Given the description of an element on the screen output the (x, y) to click on. 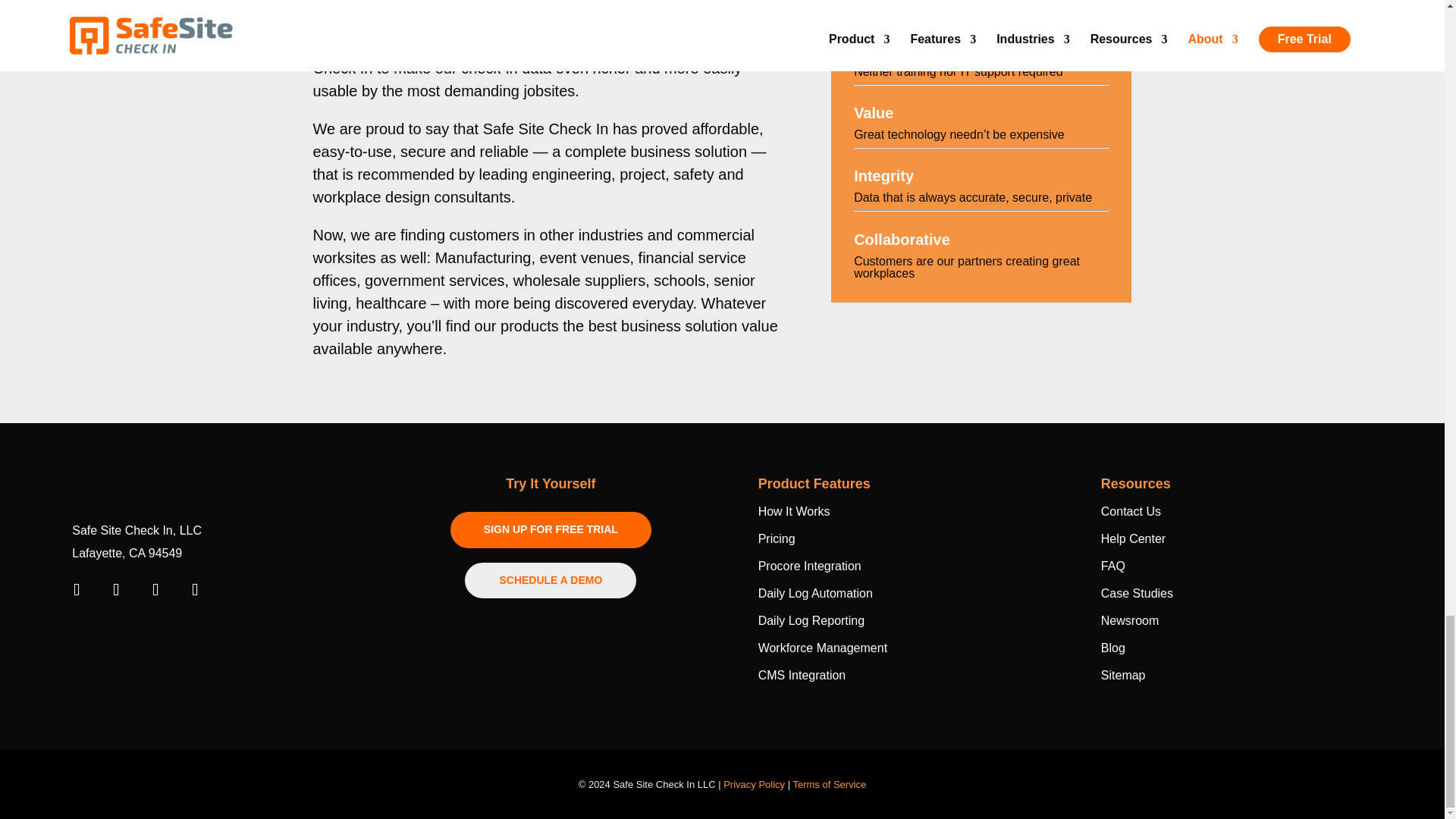
Follow on LinkedIn (115, 589)
SSCI Made in USA Badge - Small White (119, 633)
Follow on Youtube (154, 589)
Follow on X (194, 589)
Follow on Facebook (76, 589)
